Given the description of an element on the screen output the (x, y) to click on. 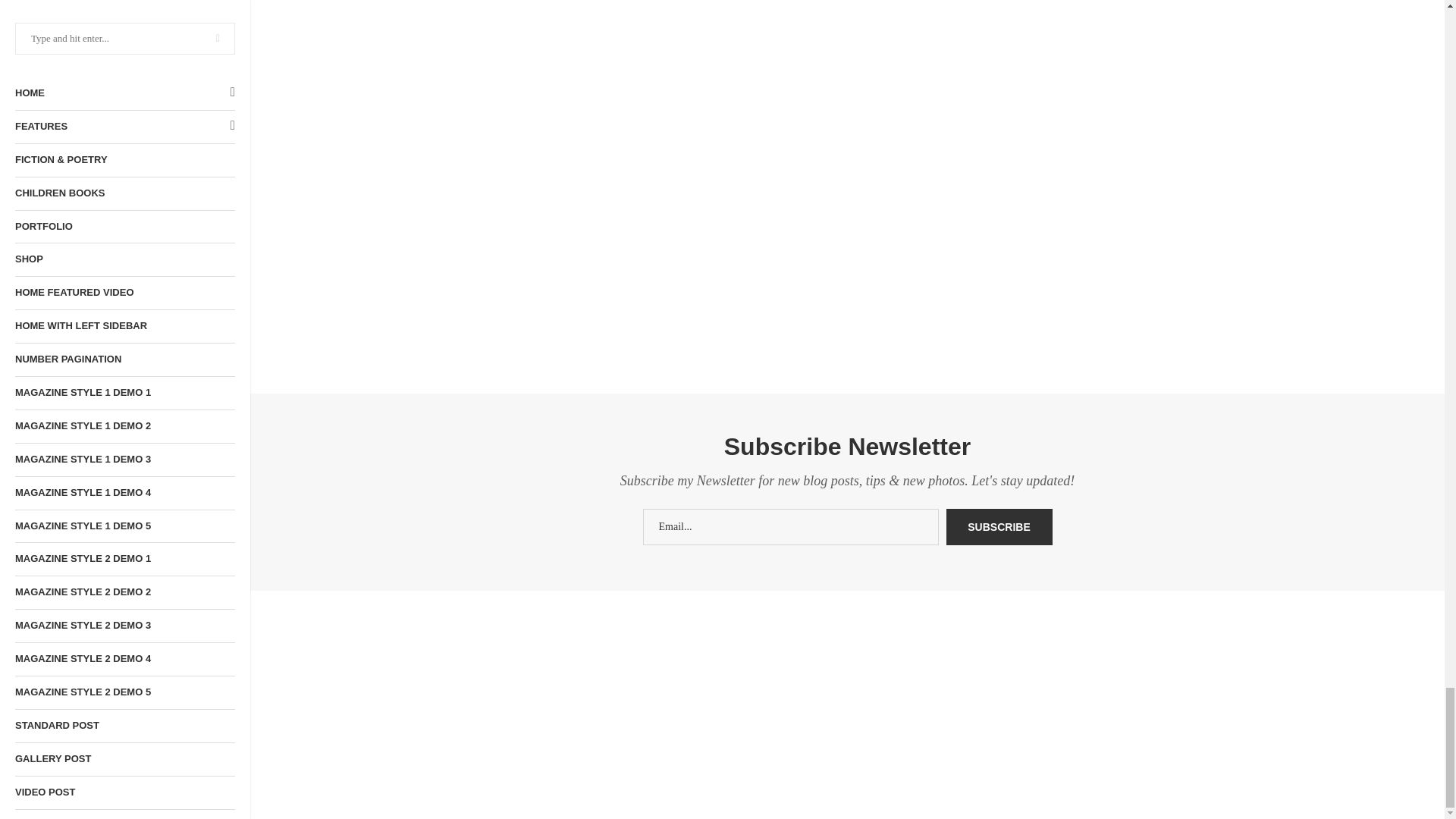
Subscribe (999, 526)
